Given the description of an element on the screen output the (x, y) to click on. 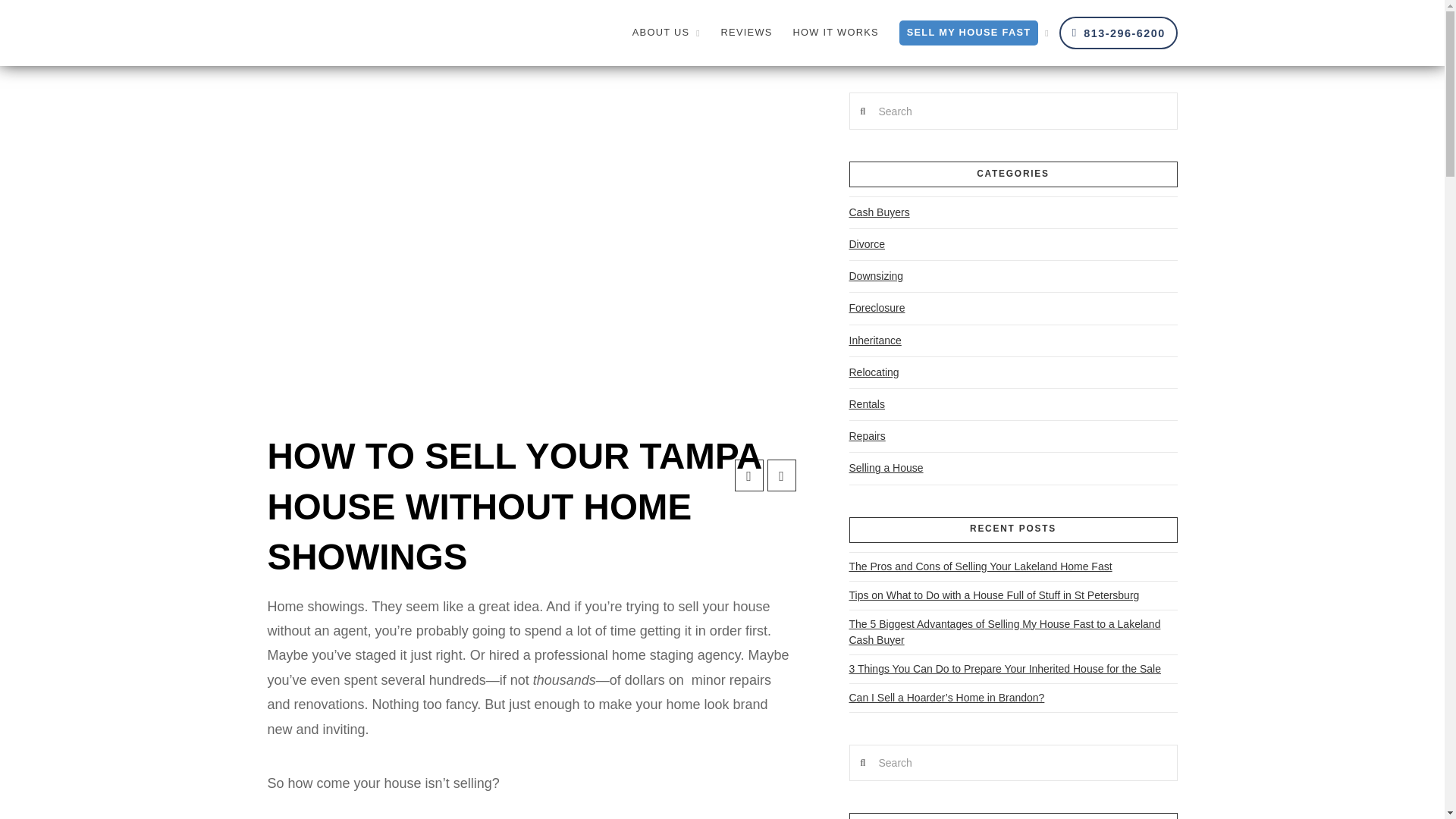
HOW IT WORKS (834, 33)
Cash Buyers (879, 212)
Downsizing (876, 276)
SELL MY HOUSE FAST (973, 33)
ABOUT US (665, 33)
Foreclosure (876, 307)
813-296-6200 (1118, 32)
Divorce (866, 244)
Get My Cash Offer (919, 52)
REVIEWS (746, 33)
